Given the description of an element on the screen output the (x, y) to click on. 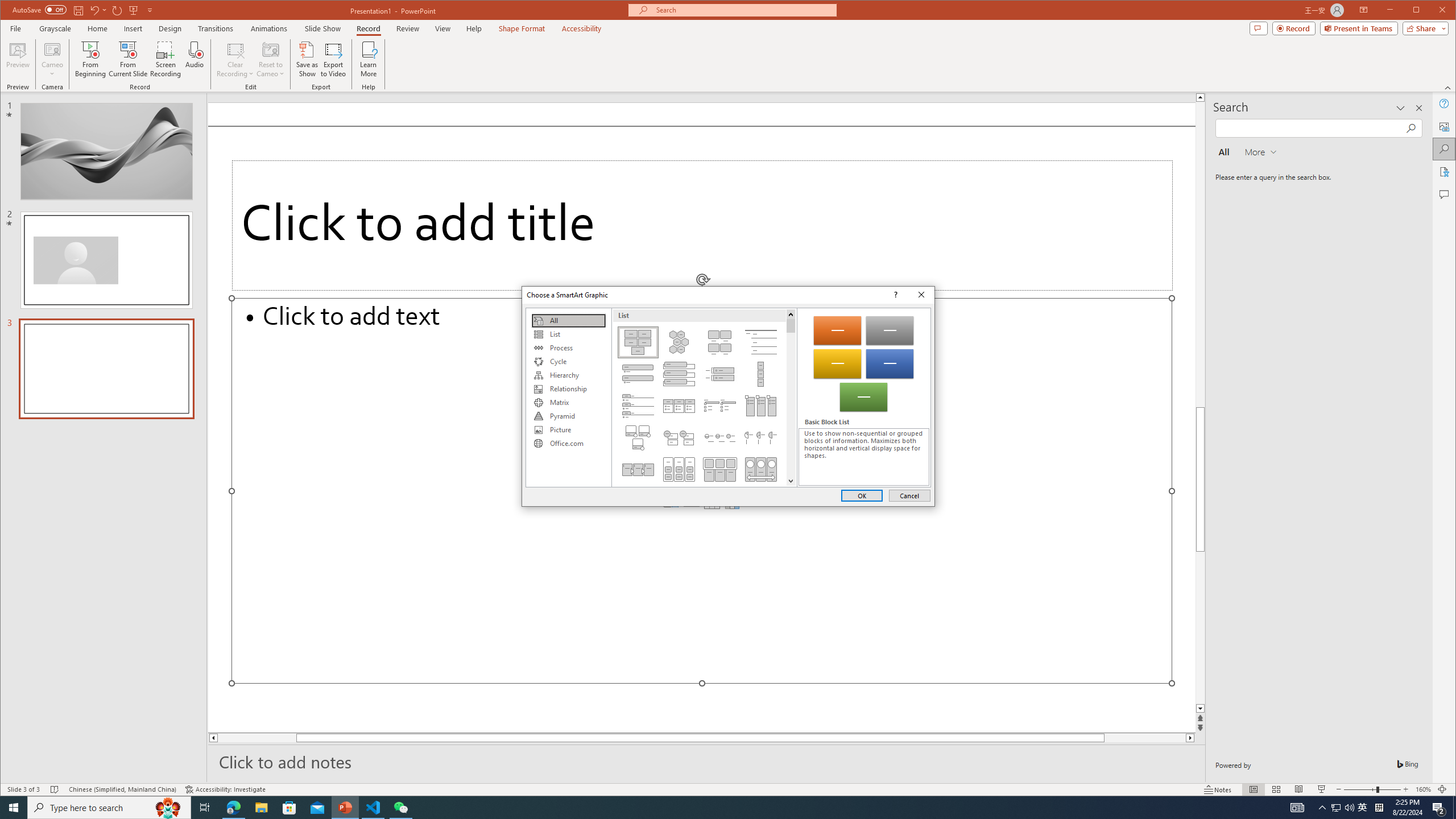
Process (568, 347)
Graphic Layouts (703, 397)
Save as Show (307, 59)
Alt Text (1444, 125)
List (568, 334)
From Beginning... (90, 59)
Increasing Circle Process (719, 437)
Grayscale (55, 28)
